Given the description of an element on the screen output the (x, y) to click on. 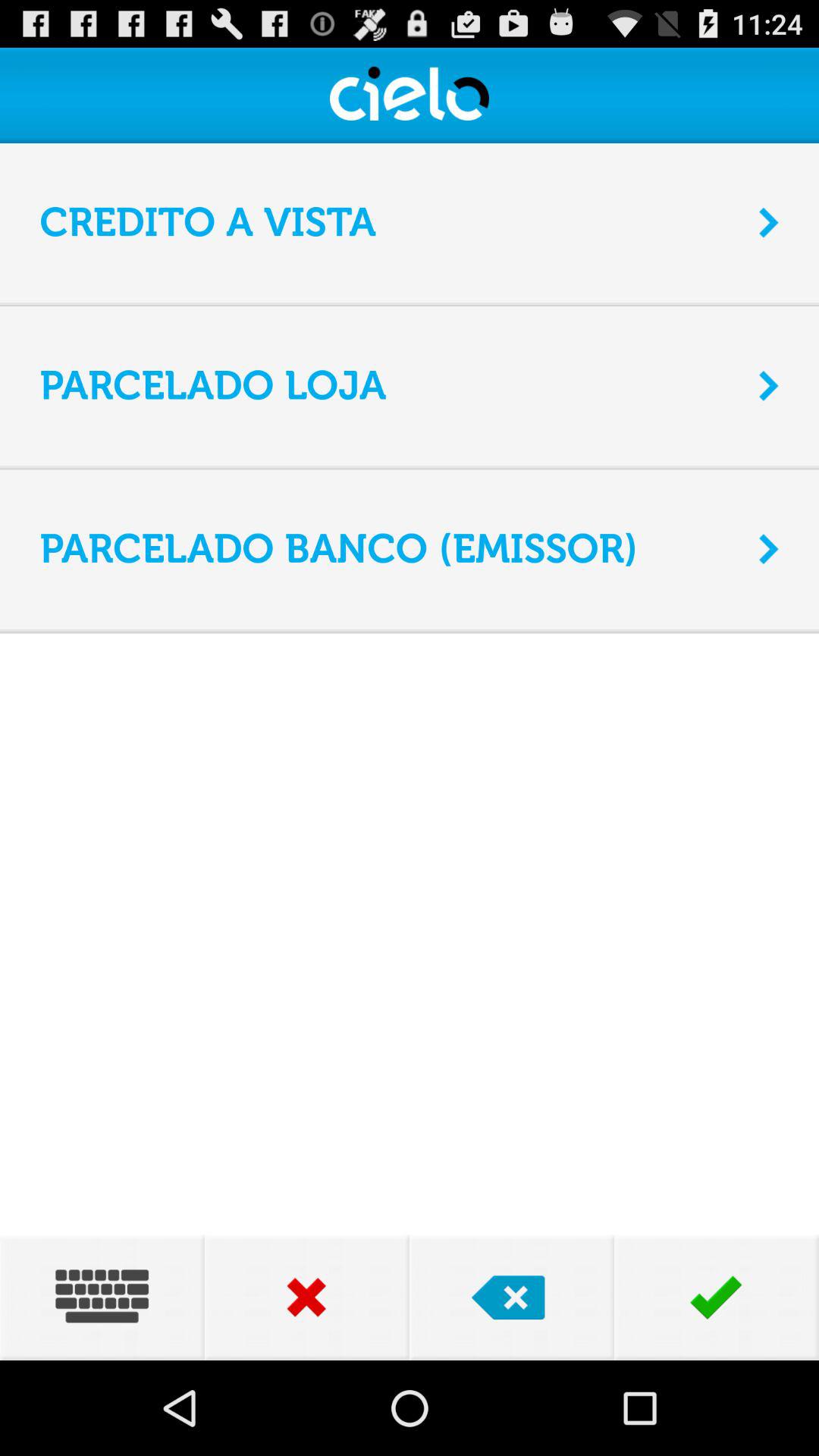
turn off item to the right of the parcelado banco (emissor) app (769, 549)
